Given the description of an element on the screen output the (x, y) to click on. 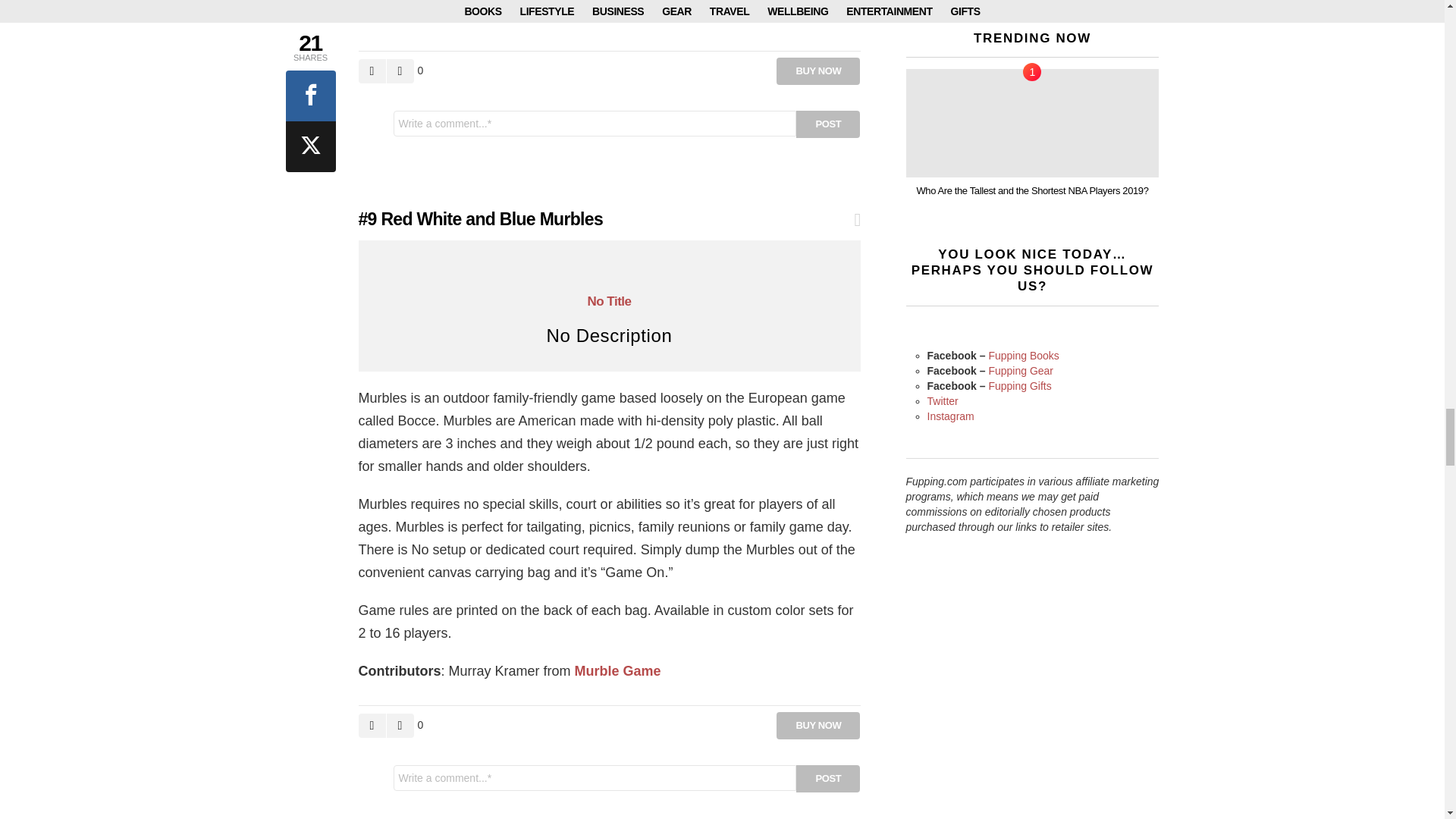
Post (828, 124)
Post (828, 778)
